Given the description of an element on the screen output the (x, y) to click on. 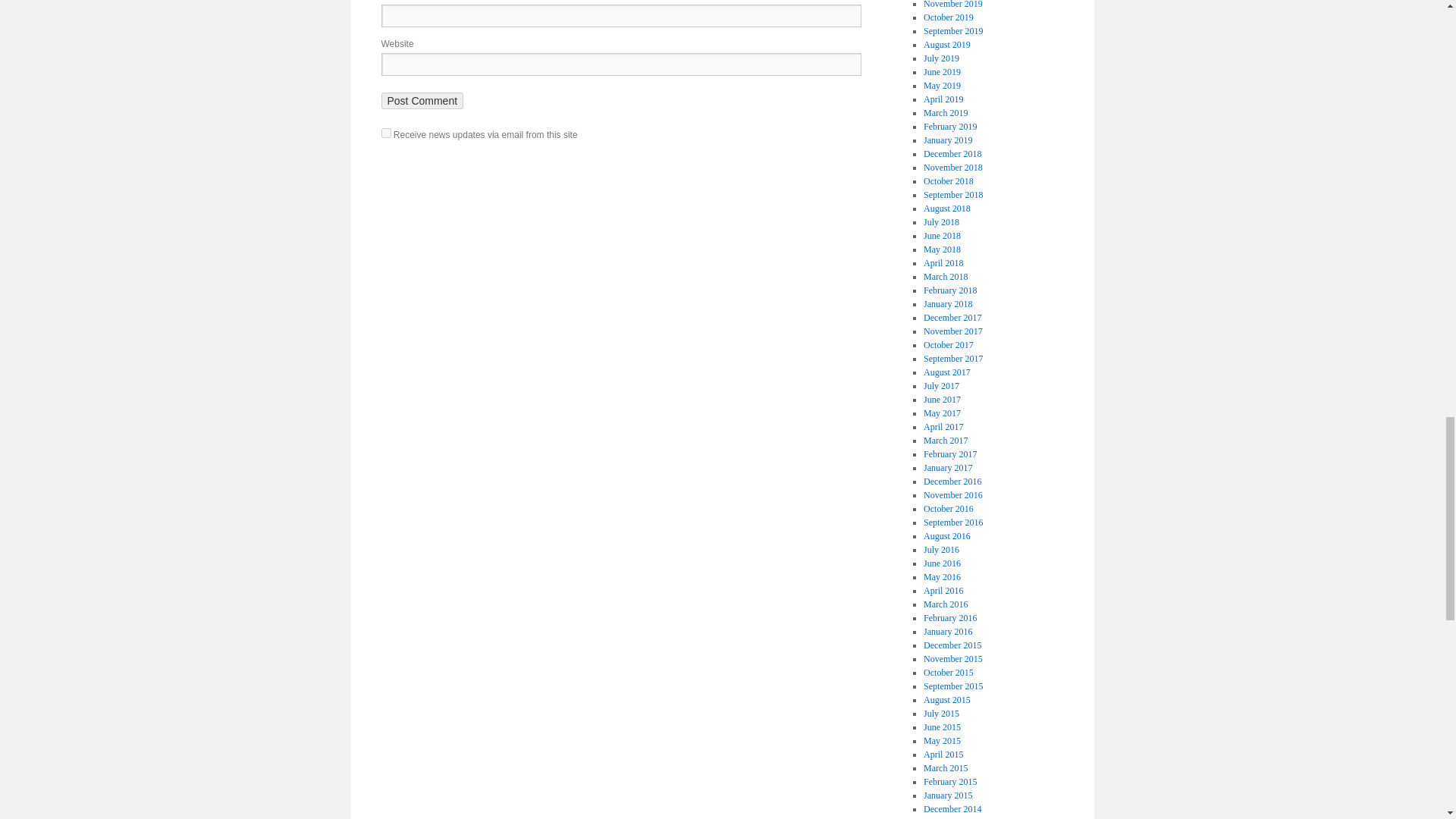
Post Comment (421, 100)
1 (385, 132)
Post Comment (421, 100)
